Given the description of an element on the screen output the (x, y) to click on. 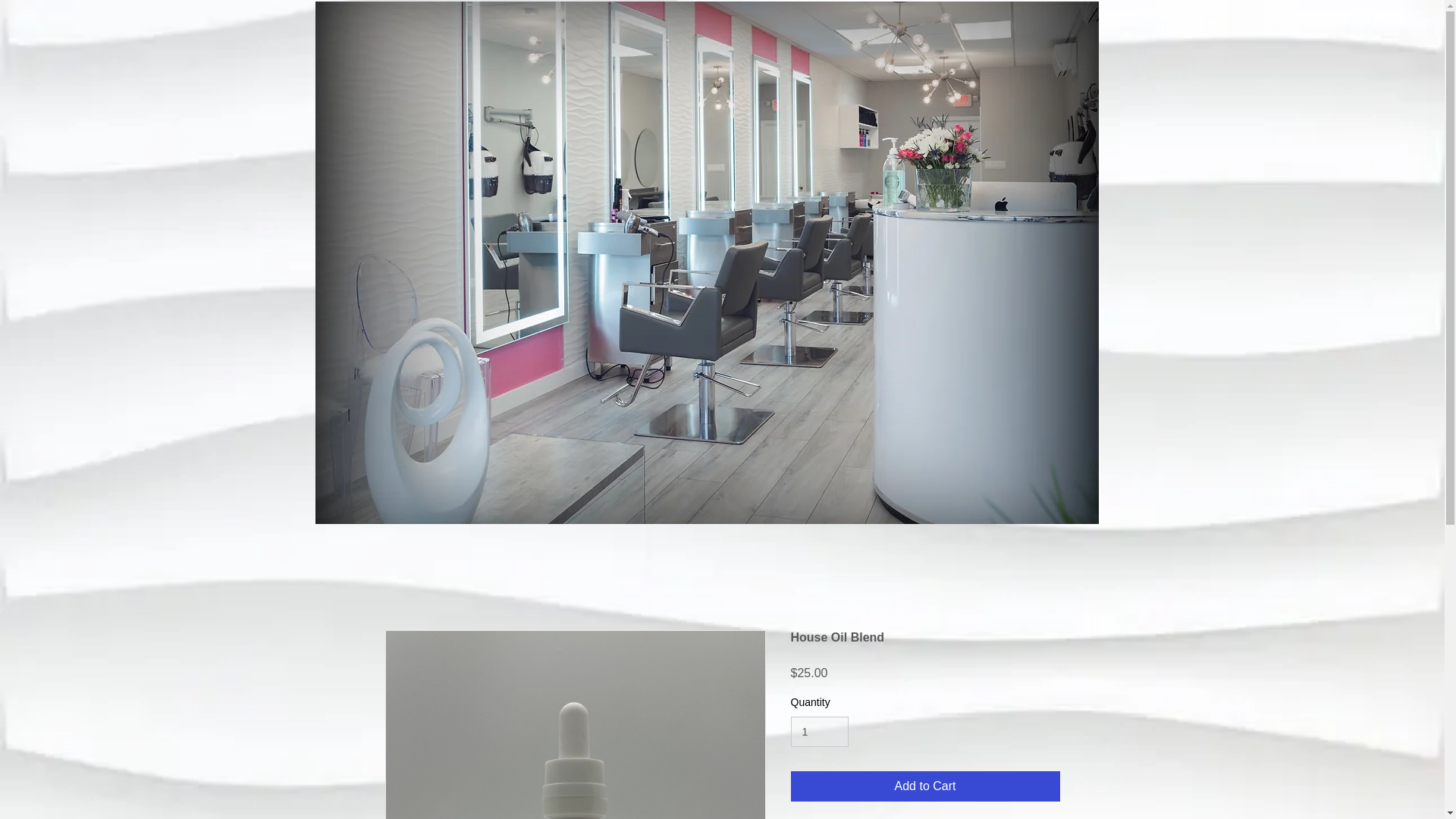
1 (818, 731)
Add to Cart (924, 786)
